Given the description of an element on the screen output the (x, y) to click on. 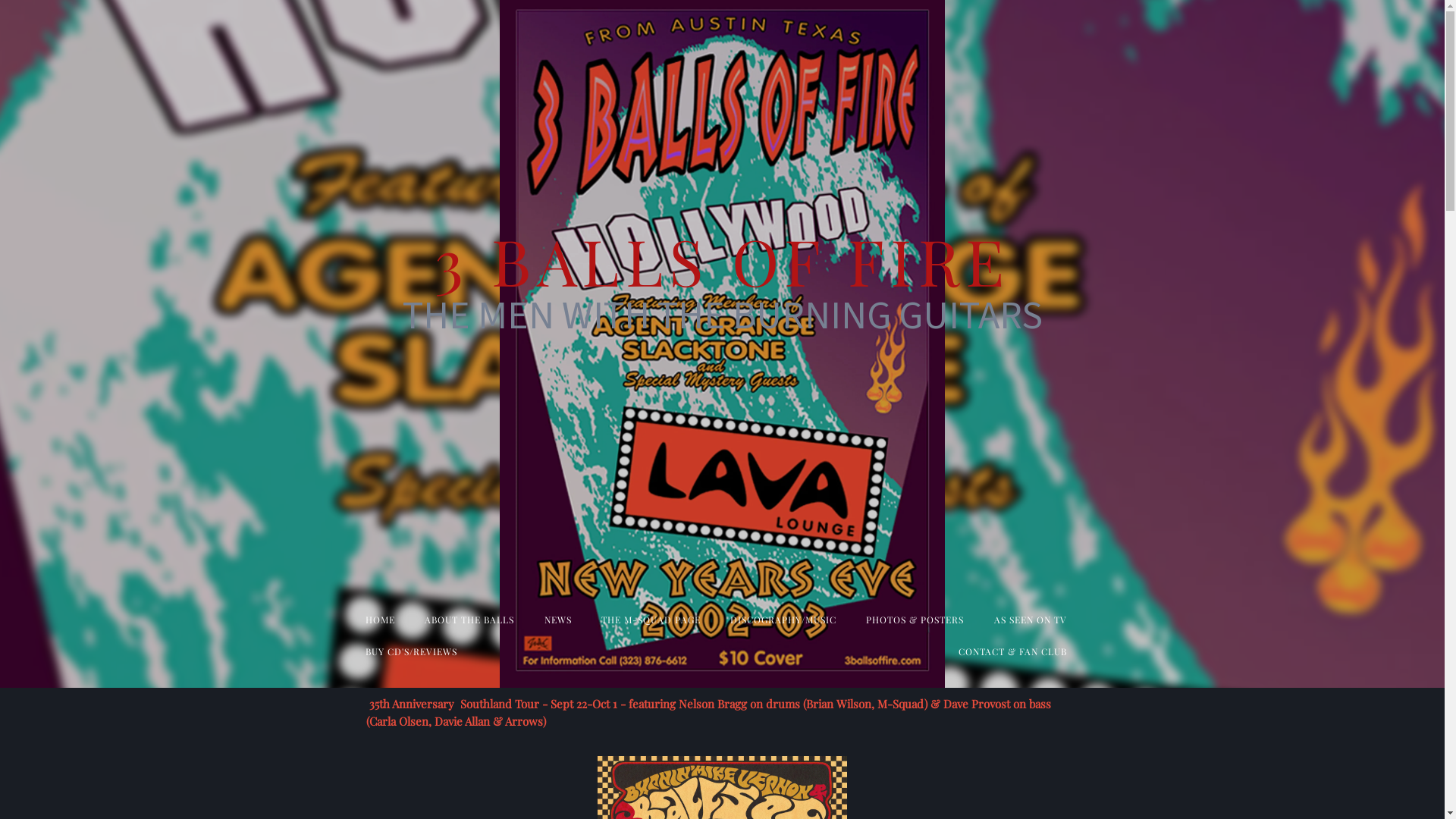
HOME Element type: text (379, 619)
ABOUT THE BALLS Element type: text (469, 619)
THE M-SQUAD PAGE Element type: text (650, 619)
BUY CD'S/REVIEWS Element type: text (410, 651)
NEWS Element type: text (557, 619)
3 BALLS OF FIRE Element type: text (721, 278)
AS SEEN ON TV Element type: text (1030, 619)
CONTACT & FAN CLUB Element type: text (1012, 651)
DISCOGRAPHY/MUSIC Element type: text (782, 619)
PHOTOS & POSTERS Element type: text (914, 619)
